Given the description of an element on the screen output the (x, y) to click on. 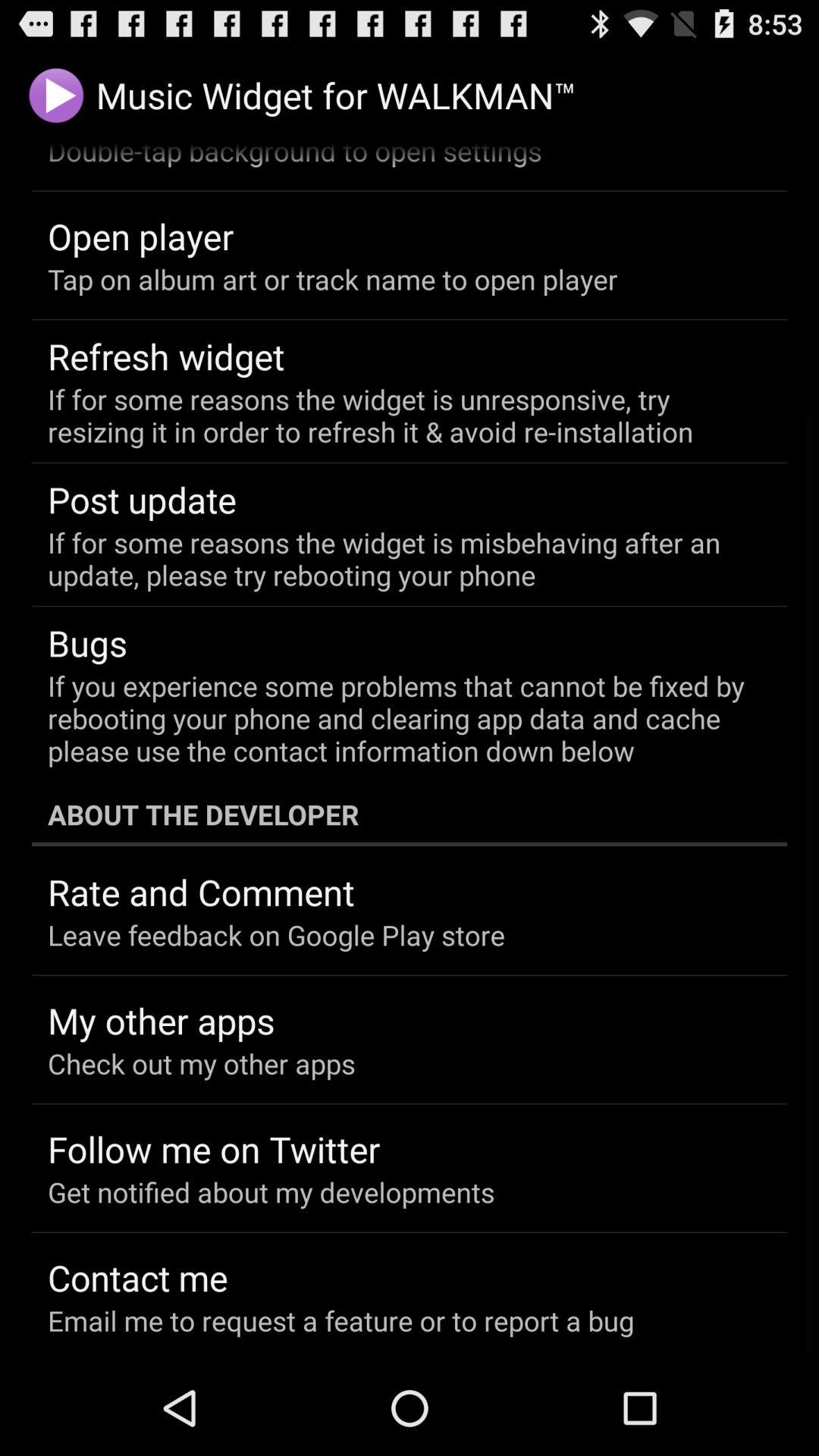
turn off item below the if for some item (141, 499)
